Given the description of an element on the screen output the (x, y) to click on. 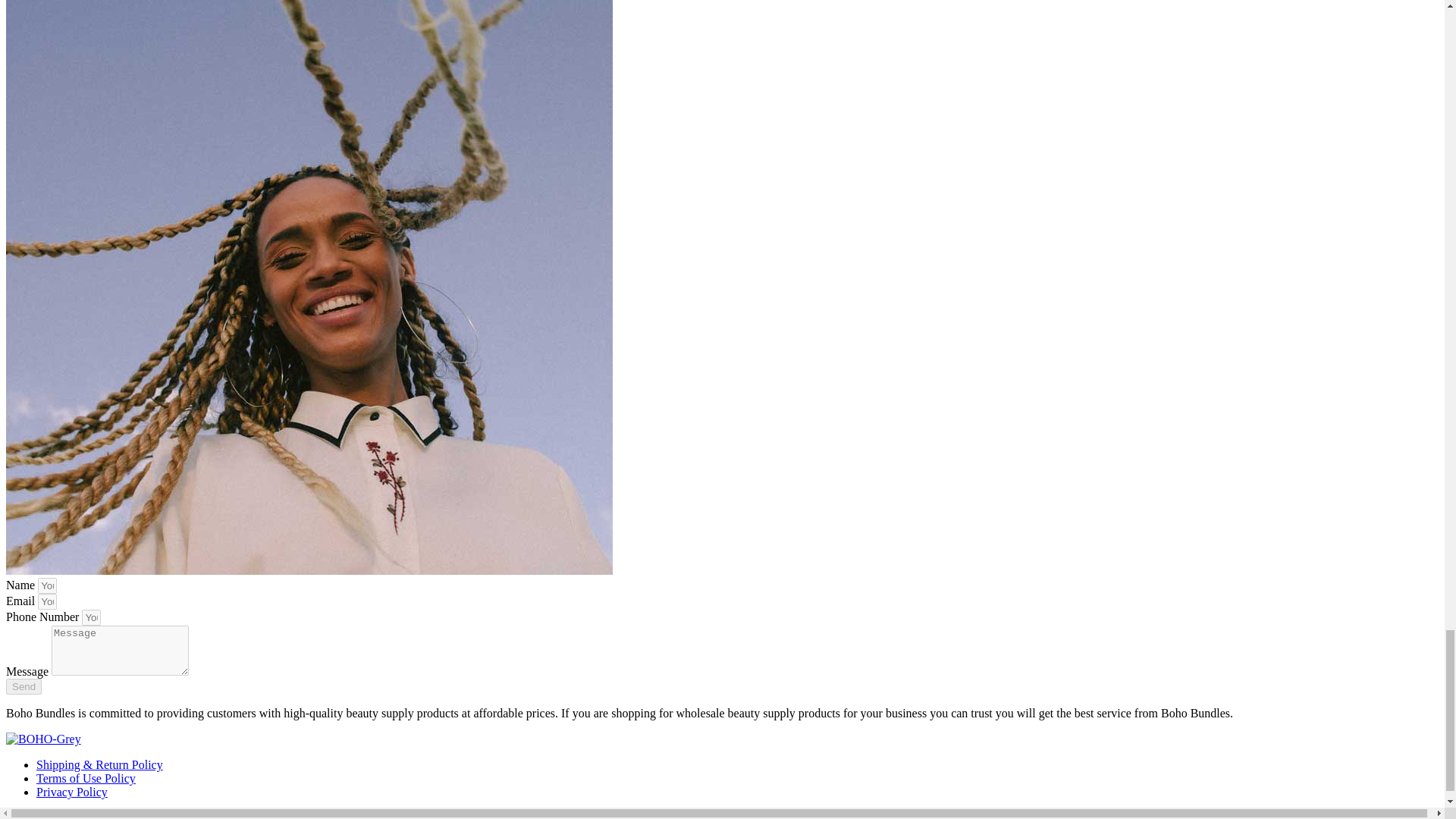
BOHO-Grey (43, 739)
